Given the description of an element on the screen output the (x, y) to click on. 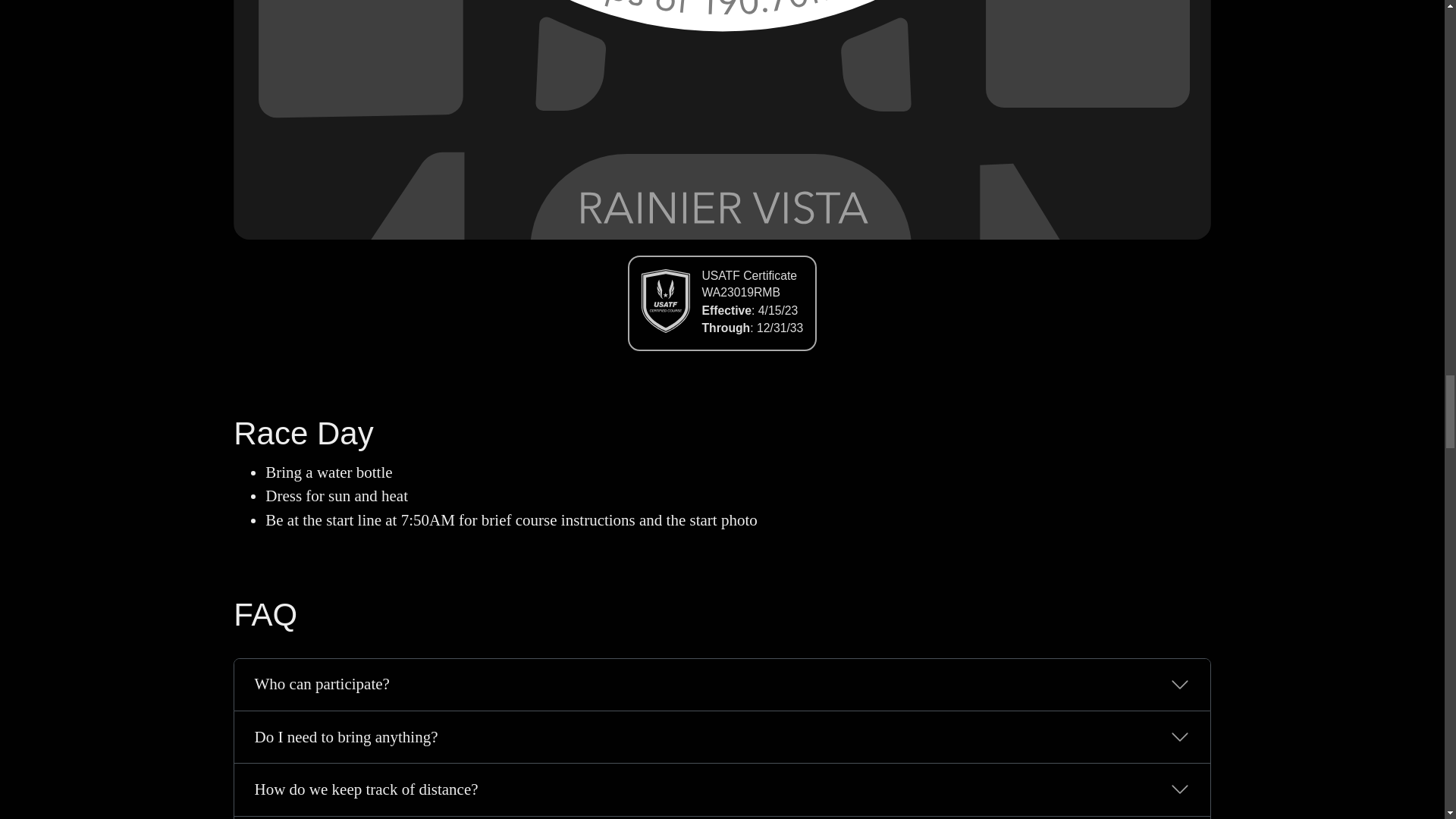
Do I need to bring anything? (721, 736)
How do we keep track of distance? (721, 788)
Who can participate? (721, 684)
